Given the description of an element on the screen output the (x, y) to click on. 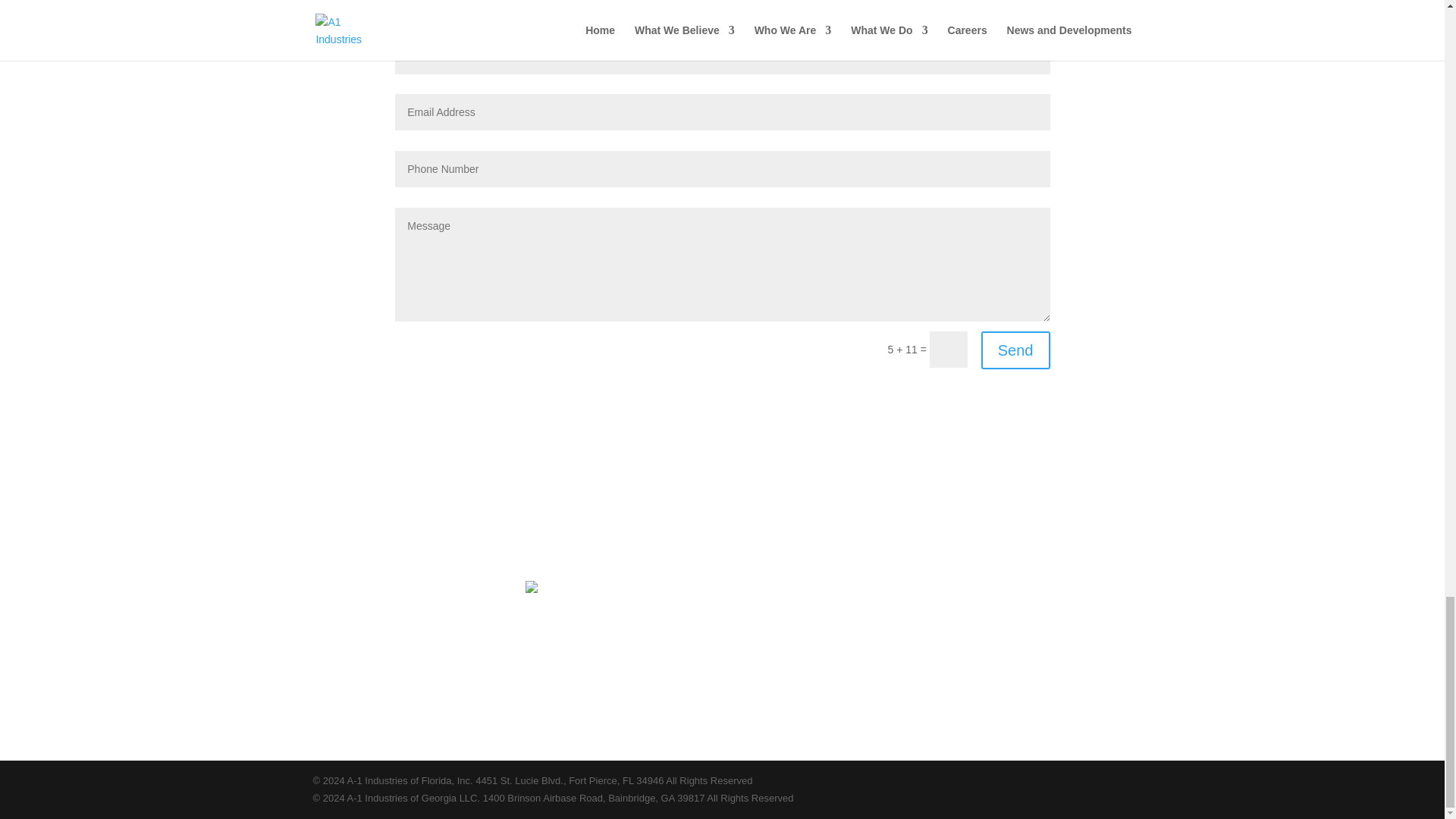
Follow on LinkedIn (651, 504)
Follow on Instagram (742, 504)
Follow on X (681, 504)
Follow on Vimeo (803, 504)
Send (1015, 350)
Follow on Youtube (773, 504)
Follow on Facebook (712, 504)
